Given the description of an element on the screen output the (x, y) to click on. 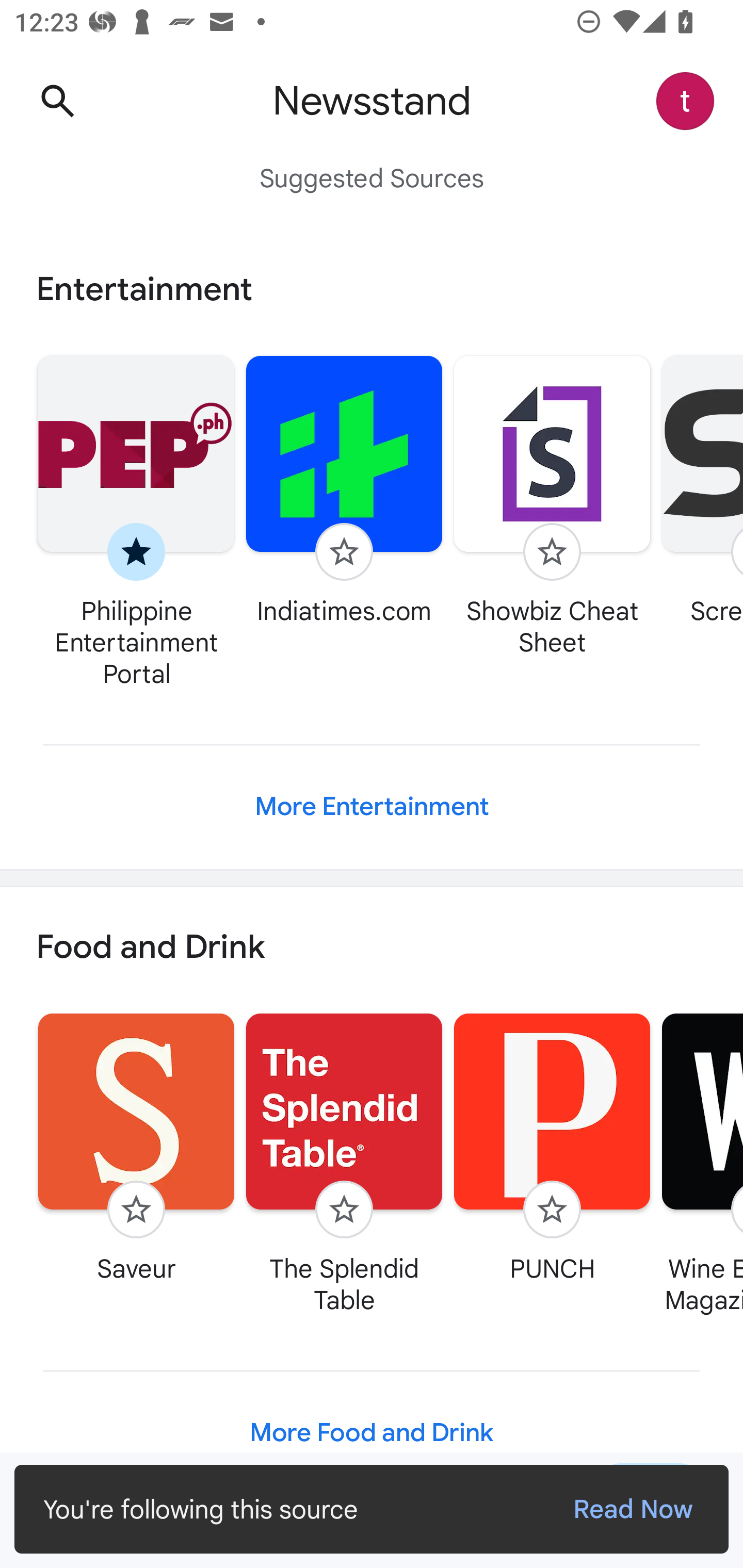
Search (57, 100)
Entertainment (371, 288)
Unfollow Philippine Entertainment Portal (136, 521)
Follow Indiatimes.com (344, 489)
Follow Showbiz Cheat Sheet (552, 505)
Unfollow (135, 551)
Follow (343, 551)
Follow (552, 551)
More Entertainment (371, 806)
Food and Drink (371, 947)
Follow Saveur (136, 1147)
Follow The Splendid Table (344, 1163)
Follow PUNCH (552, 1147)
Follow (135, 1209)
Follow (343, 1209)
Follow (552, 1209)
More Food and Drink (371, 1432)
Read Now (632, 1509)
